Given the description of an element on the screen output the (x, y) to click on. 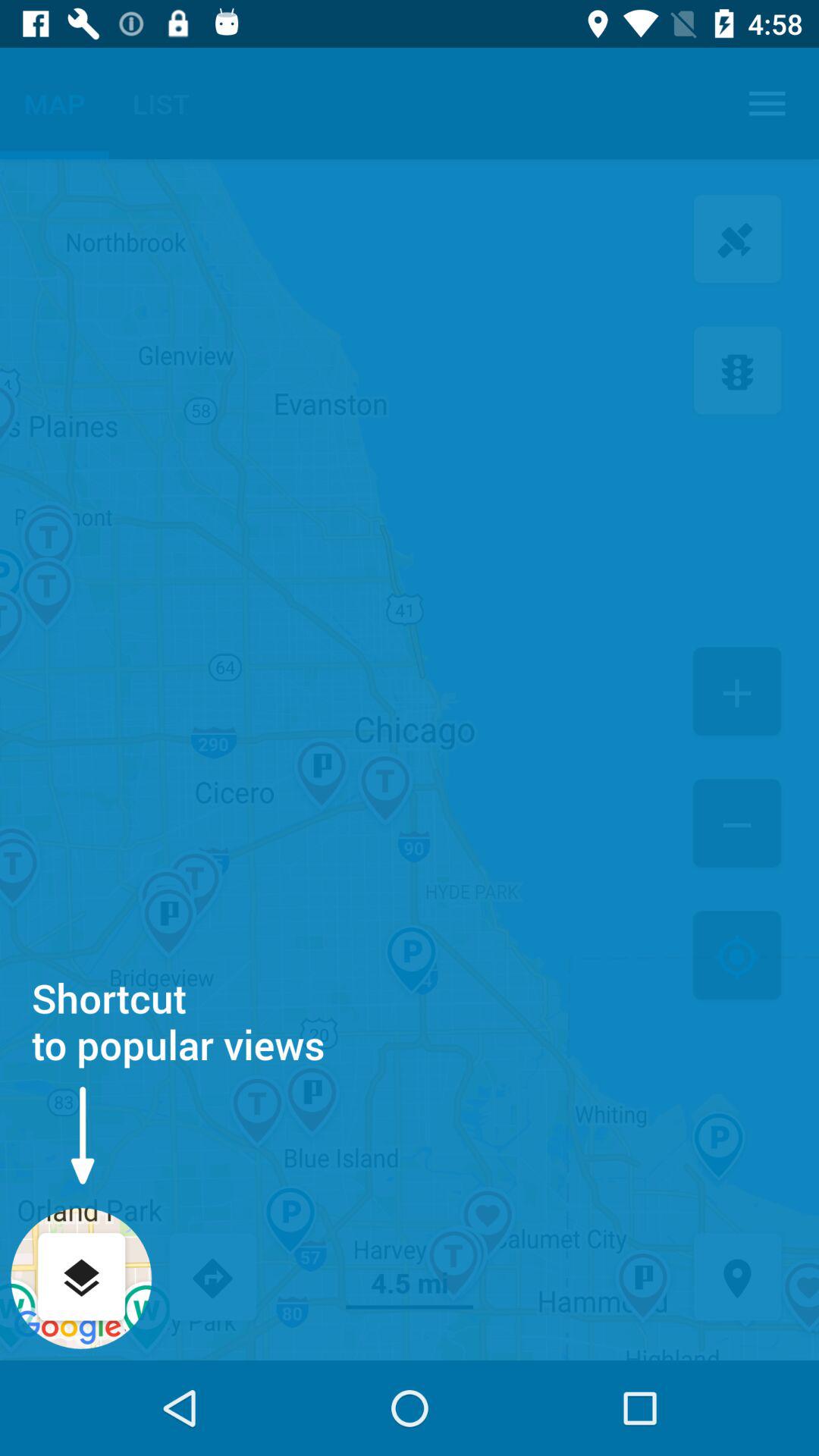
go to satellite viewer (737, 240)
